Given the description of an element on the screen output the (x, y) to click on. 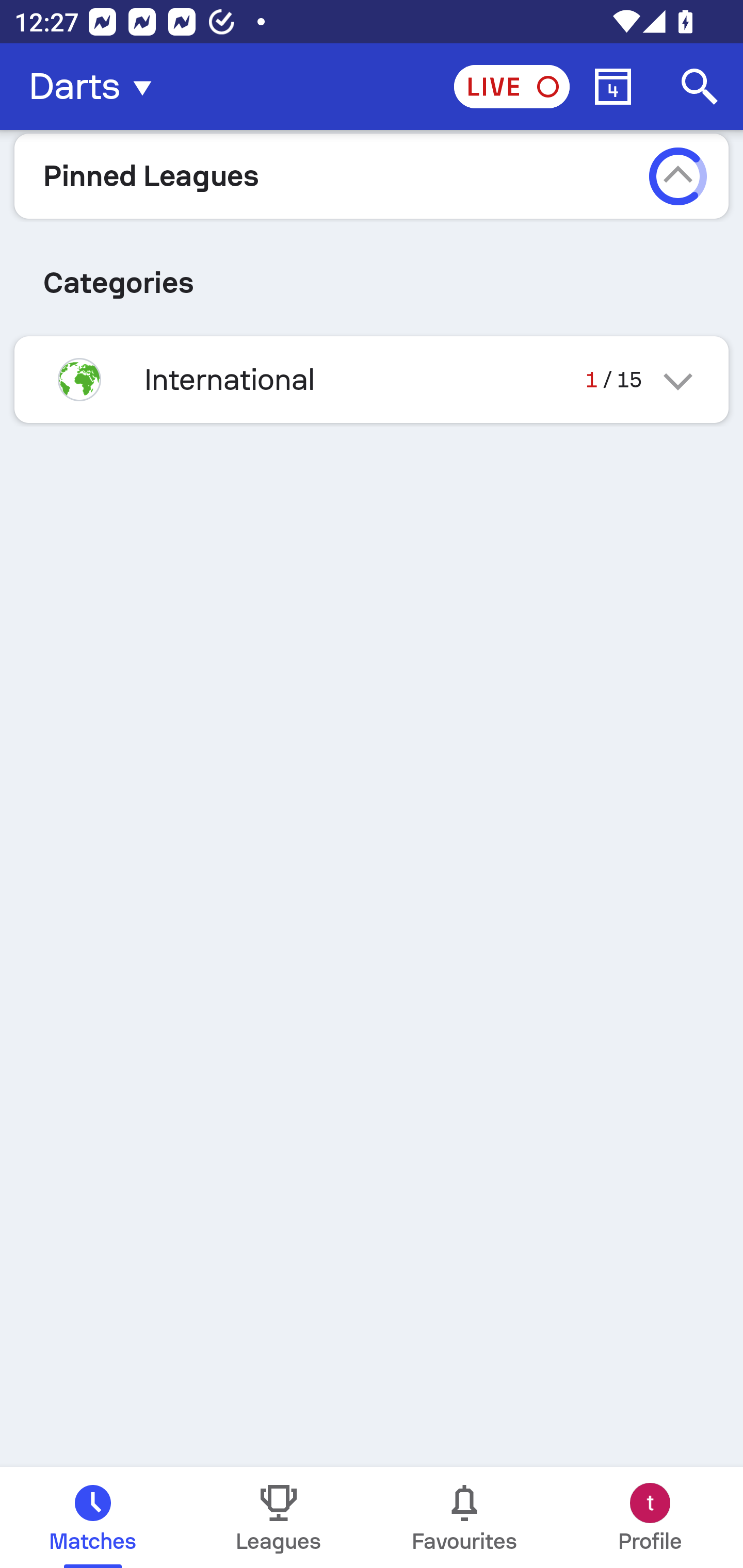
Darts (96, 86)
Calendar (612, 86)
Search (699, 86)
Pinned Leagues (371, 175)
Categories (371, 275)
International 1 / 15 (371, 379)
Leagues (278, 1517)
Favourites (464, 1517)
Profile (650, 1517)
